Given the description of an element on the screen output the (x, y) to click on. 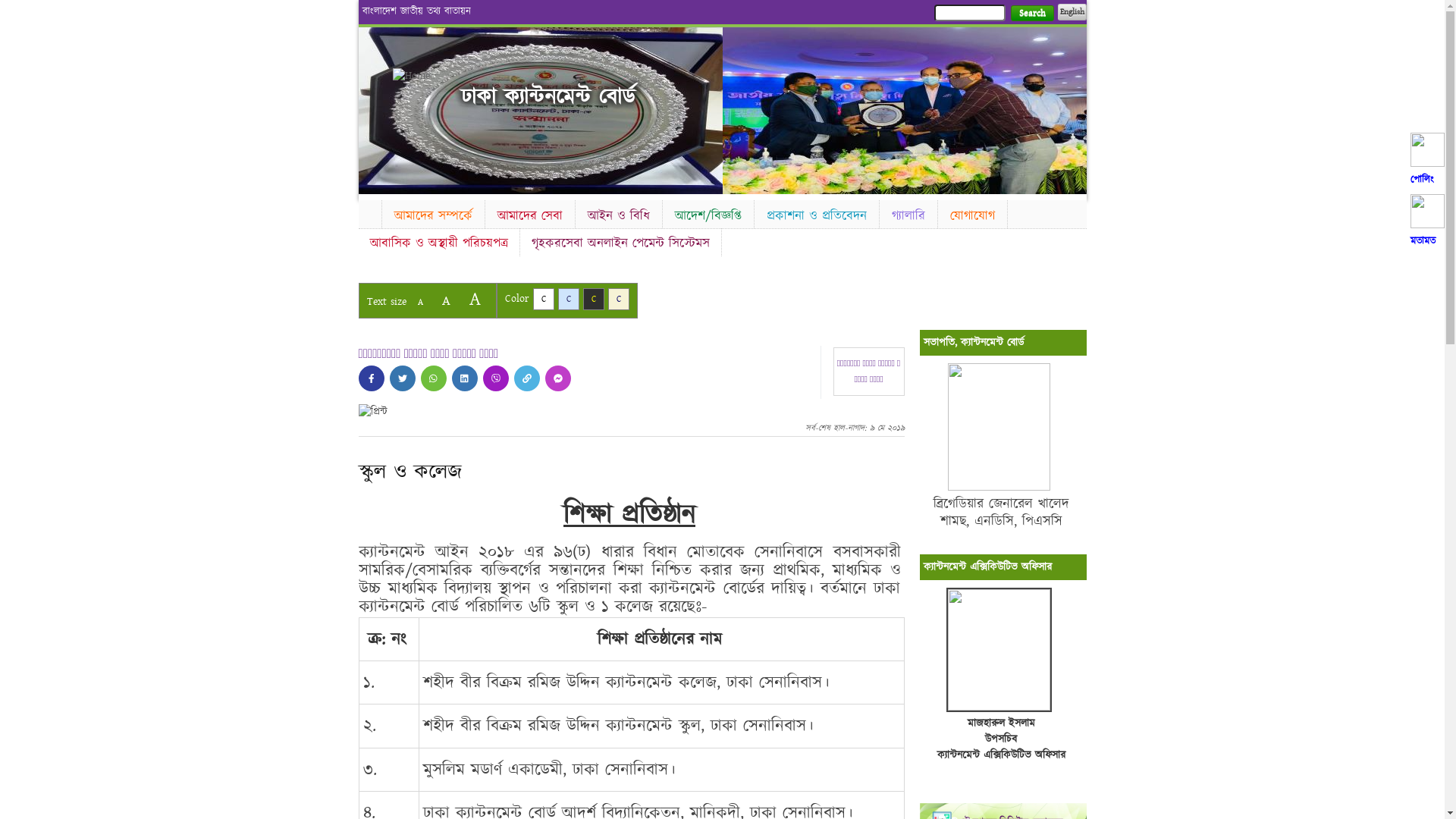
C Element type: text (592, 299)
C Element type: text (542, 299)
C Element type: text (618, 299)
English Element type: text (1071, 11)
C Element type: text (568, 299)
Home Element type: hover (418, 76)
Home Element type: hover (368, 211)
A Element type: text (445, 300)
Search Element type: text (1031, 13)
A Element type: text (474, 298)
A Element type: text (419, 301)
